Given the description of an element on the screen output the (x, y) to click on. 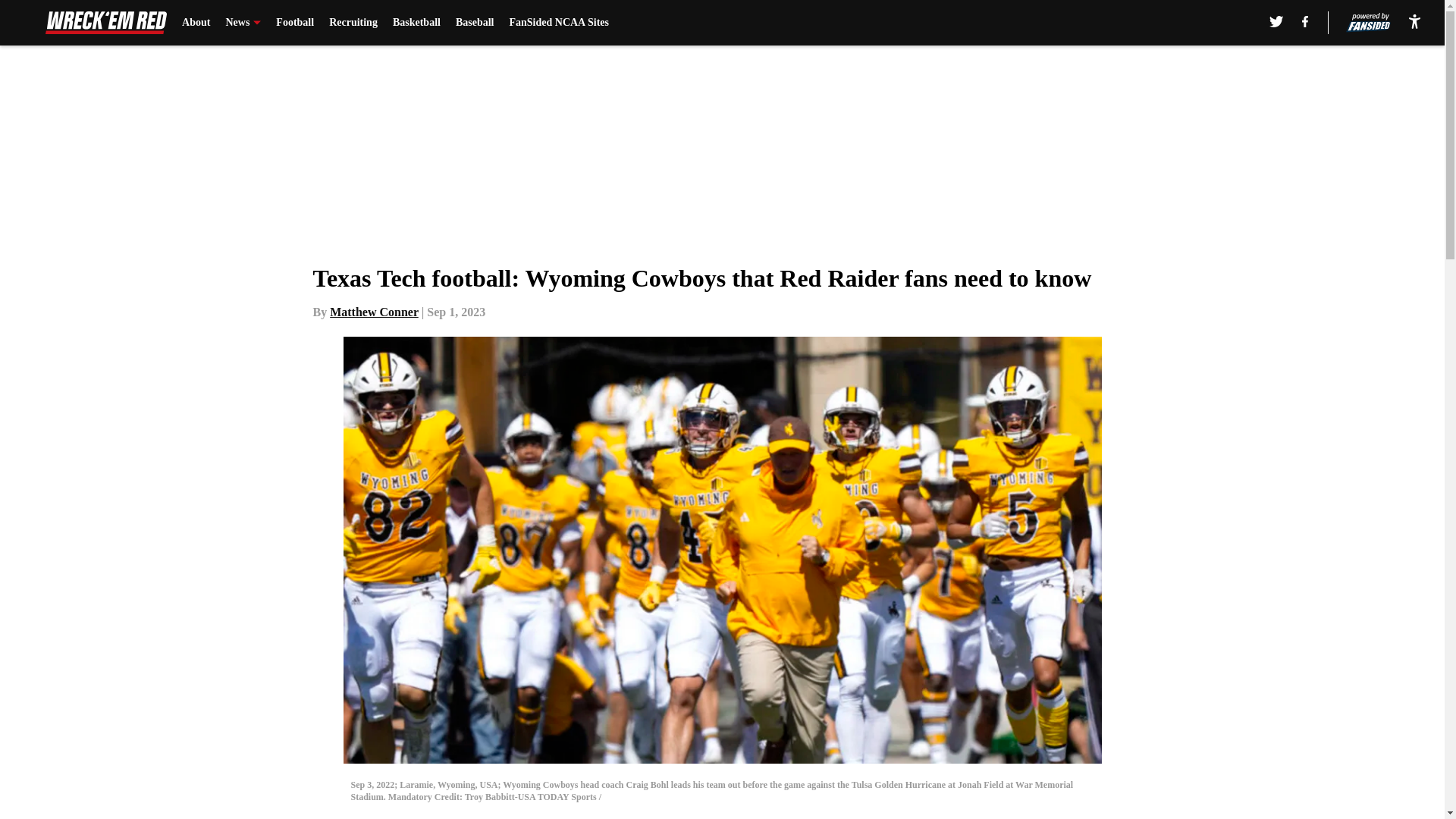
Basketball (417, 22)
Recruiting (353, 22)
Football (295, 22)
FanSided NCAA Sites (558, 22)
About (195, 22)
Matthew Conner (374, 311)
Baseball (475, 22)
